Given the description of an element on the screen output the (x, y) to click on. 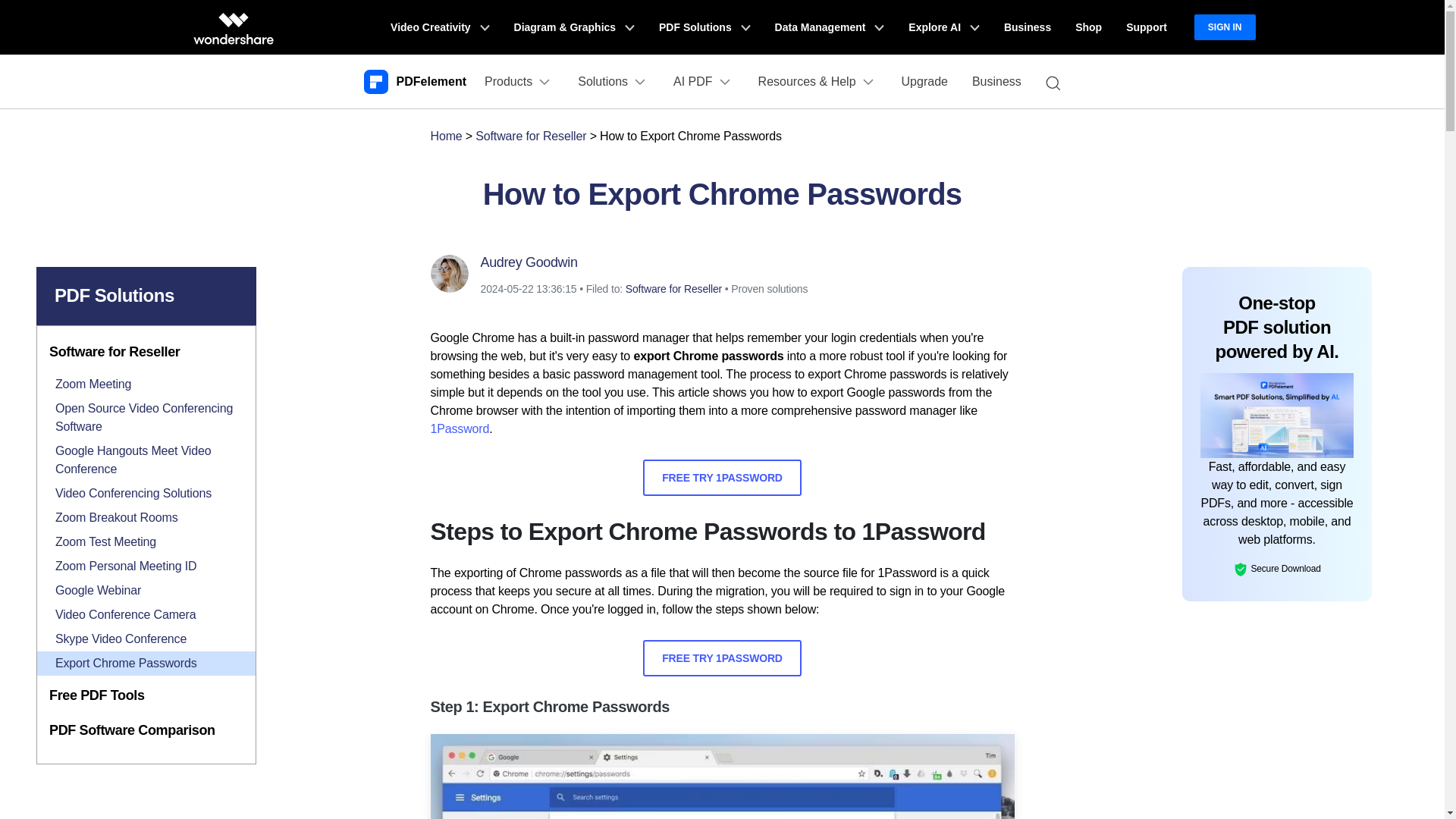
Video Creativity (439, 27)
Explore AI (943, 27)
PDF Solutions (704, 27)
Data Management (829, 27)
